Given the description of an element on the screen output the (x, y) to click on. 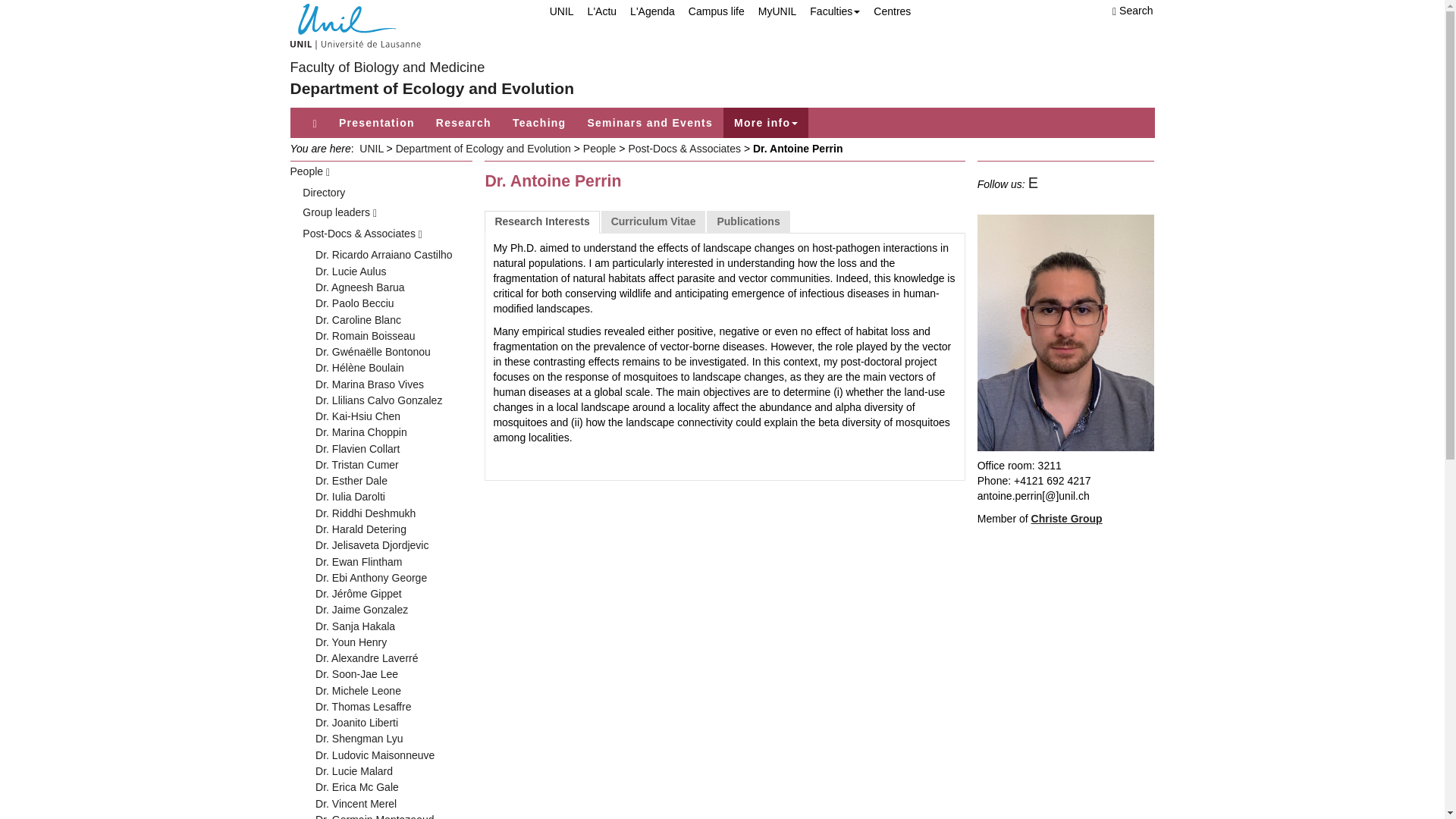
Seminars and Events (649, 122)
More info (765, 122)
Research (463, 122)
Teaching (539, 122)
Department of Ecology and Evolution (431, 88)
Centres (885, 10)
Unil news (594, 10)
Campus life (709, 10)
UNIL (554, 10)
Faculties (828, 10)
